Given the description of an element on the screen output the (x, y) to click on. 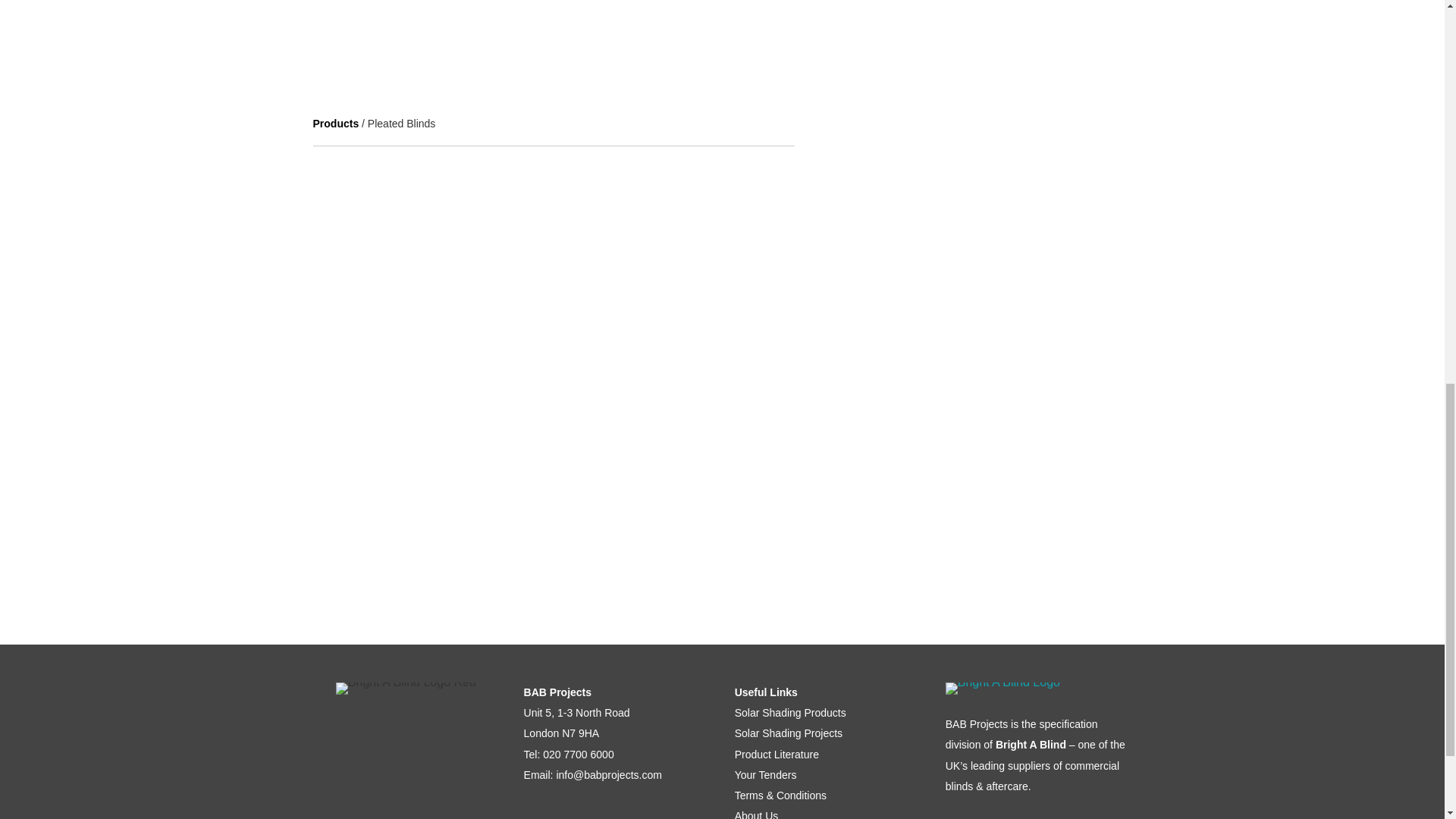
Bright A Blind Logo Red (406, 688)
Bright A Blind Logo (1001, 688)
